Given the description of an element on the screen output the (x, y) to click on. 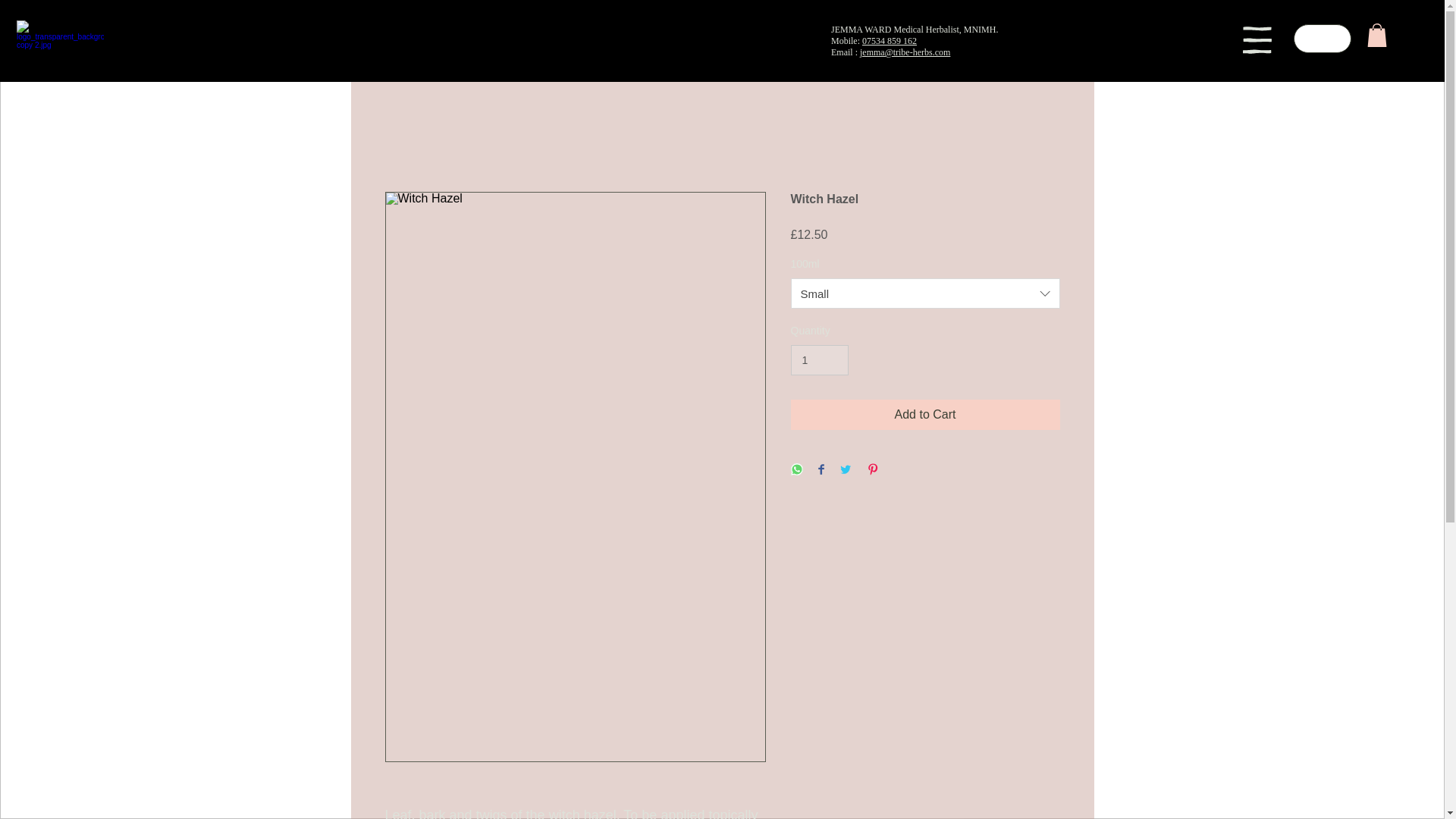
Add to Cart (924, 414)
07534 859 162 (889, 40)
Small (924, 293)
1 (818, 359)
